Given the description of an element on the screen output the (x, y) to click on. 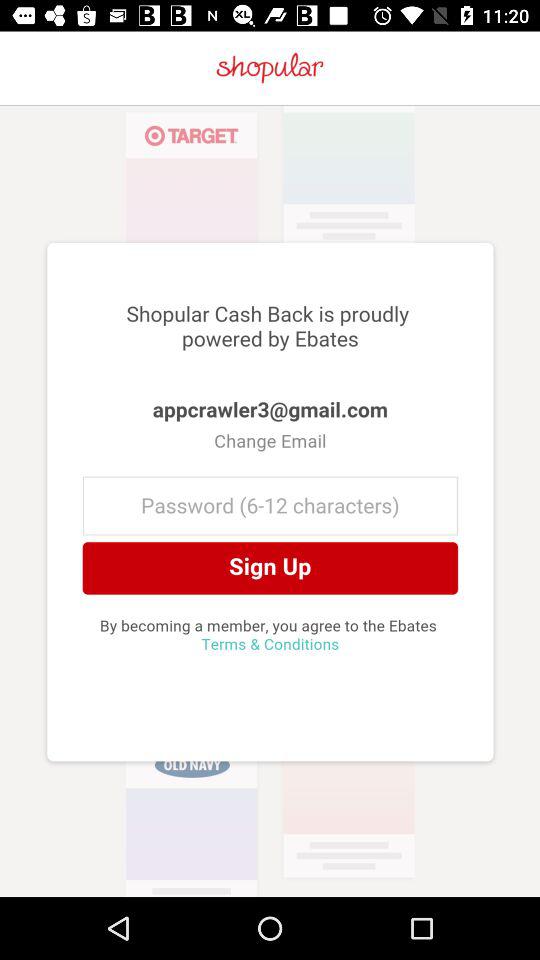
color print (270, 501)
